Given the description of an element on the screen output the (x, y) to click on. 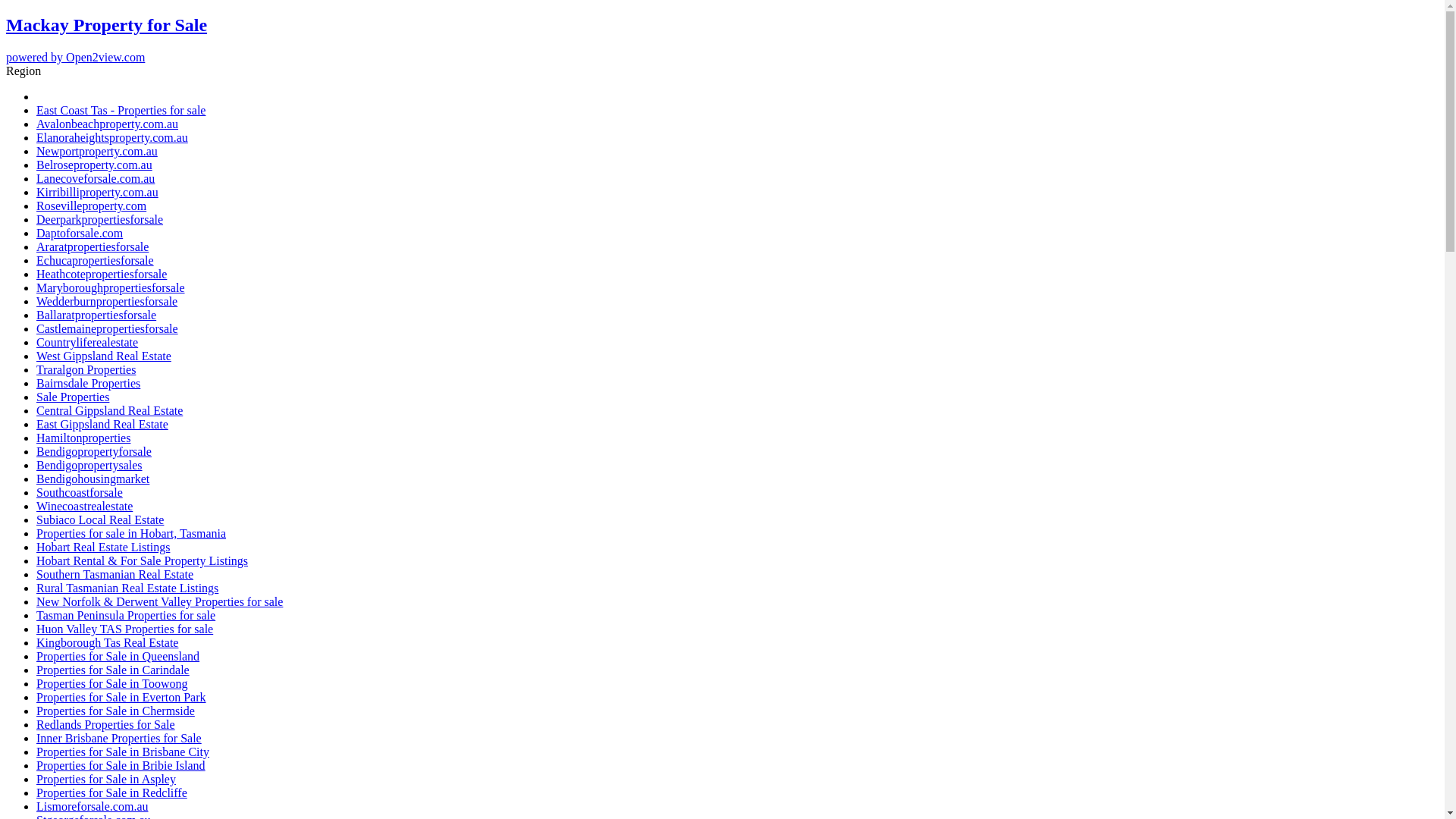
Bendigopropertysales Element type: text (89, 464)
Properties for Sale in Toowong Element type: text (111, 683)
Central Gippsland Real Estate Element type: text (109, 410)
Hobart Rental & For Sale Property Listings Element type: text (141, 560)
Avalonbeachproperty.com.au Element type: text (107, 123)
Redlands Properties for Sale Element type: text (105, 724)
Lismoreforsale.com.au Element type: text (92, 806)
Subiaco Local Real Estate Element type: text (99, 519)
Tasman Peninsula Properties for sale Element type: text (125, 614)
Traralgon Properties Element type: text (85, 369)
Southcoastforsale Element type: text (79, 492)
Kingborough Tas Real Estate Element type: text (107, 642)
Winecoastrealestate Element type: text (84, 505)
Echucapropertiesforsale Element type: text (94, 260)
Properties for Sale in Carindale Element type: text (112, 669)
Properties for Sale in Queensland Element type: text (117, 655)
Properties for Sale in Aspley Element type: text (105, 778)
Deerparkpropertiesforsale Element type: text (99, 219)
Bendigopropertyforsale Element type: text (93, 451)
Properties for Sale in Chermside Element type: text (115, 710)
Belroseproperty.com.au Element type: text (94, 164)
Ballaratpropertiesforsale Element type: text (96, 314)
Mackay Property for Sale
powered by Open2view.com Element type: text (722, 39)
New Norfolk & Derwent Valley Properties for sale Element type: text (159, 601)
Properties for Sale in Brisbane City Element type: text (122, 751)
Bairnsdale Properties Element type: text (88, 382)
Rural Tasmanian Real Estate Listings Element type: text (127, 587)
Wedderburnpropertiesforsale Element type: text (106, 300)
Properties for Sale in Bribie Island Element type: text (120, 765)
Bendigohousingmarket Element type: text (92, 478)
Lanecoveforsale.com.au Element type: text (95, 178)
Elanoraheightsproperty.com.au Element type: text (112, 137)
Southern Tasmanian Real Estate Element type: text (114, 573)
Kirribilliproperty.com.au Element type: text (97, 191)
Daptoforsale.com Element type: text (79, 232)
Newportproperty.com.au Element type: text (96, 150)
Heathcotepropertiesforsale Element type: text (101, 273)
East Gippsland Real Estate Element type: text (102, 423)
East Coast Tas - Properties for sale Element type: text (120, 109)
Hobart Real Estate Listings Element type: text (102, 546)
Countryliferealestate Element type: text (87, 341)
Castlemainepropertiesforsale Element type: text (107, 328)
Rosevilleproperty.com Element type: text (91, 205)
Maryboroughpropertiesforsale Element type: text (110, 287)
Huon Valley TAS Properties for sale Element type: text (124, 628)
Inner Brisbane Properties for Sale Element type: text (118, 737)
Hamiltonproperties Element type: text (83, 437)
Araratpropertiesforsale Element type: text (92, 246)
Properties for Sale in Redcliffe Element type: text (111, 792)
West Gippsland Real Estate Element type: text (103, 355)
Sale Properties Element type: text (72, 396)
Properties for Sale in Everton Park Element type: text (121, 696)
Properties for sale in Hobart, Tasmania Element type: text (130, 533)
